Given the description of an element on the screen output the (x, y) to click on. 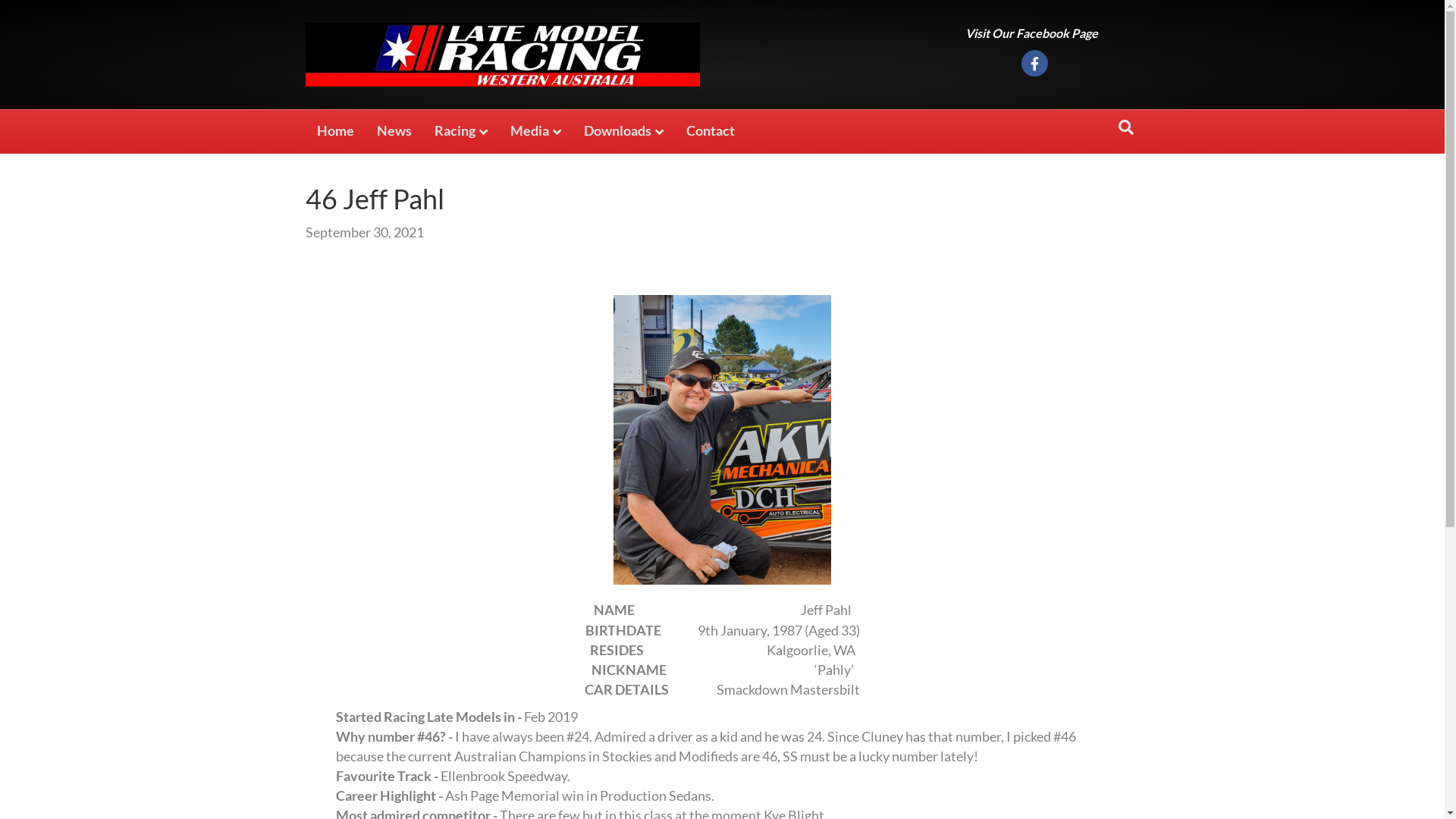
Racing Element type: text (460, 131)
Downloads Element type: text (622, 131)
Media Element type: text (535, 131)
Contact Element type: text (710, 130)
Facebook Element type: text (1034, 63)
News Element type: text (394, 130)
Home Element type: text (334, 130)
